Given the description of an element on the screen output the (x, y) to click on. 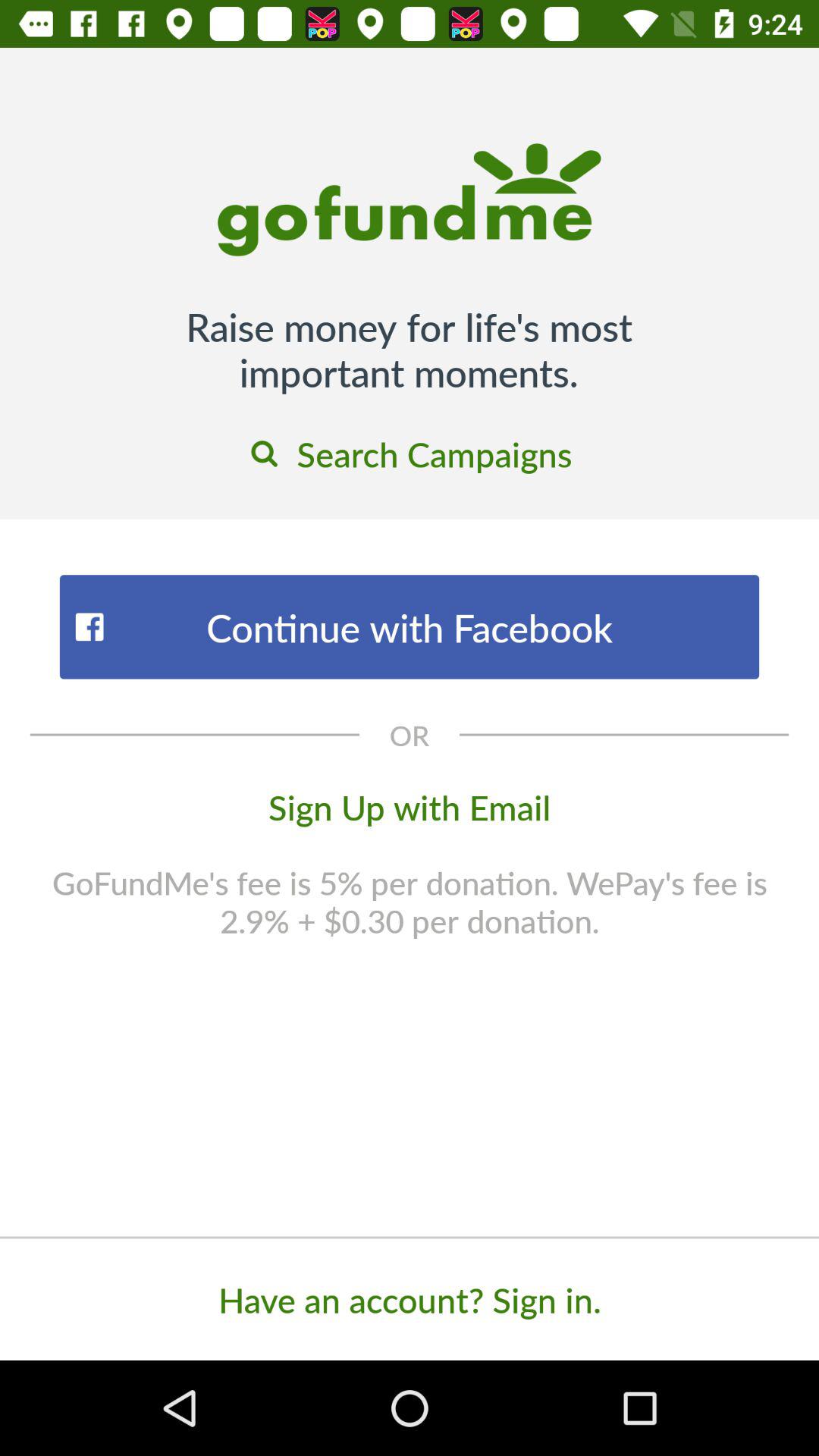
click the icon above the gofundme s fee (409, 806)
